Given the description of an element on the screen output the (x, y) to click on. 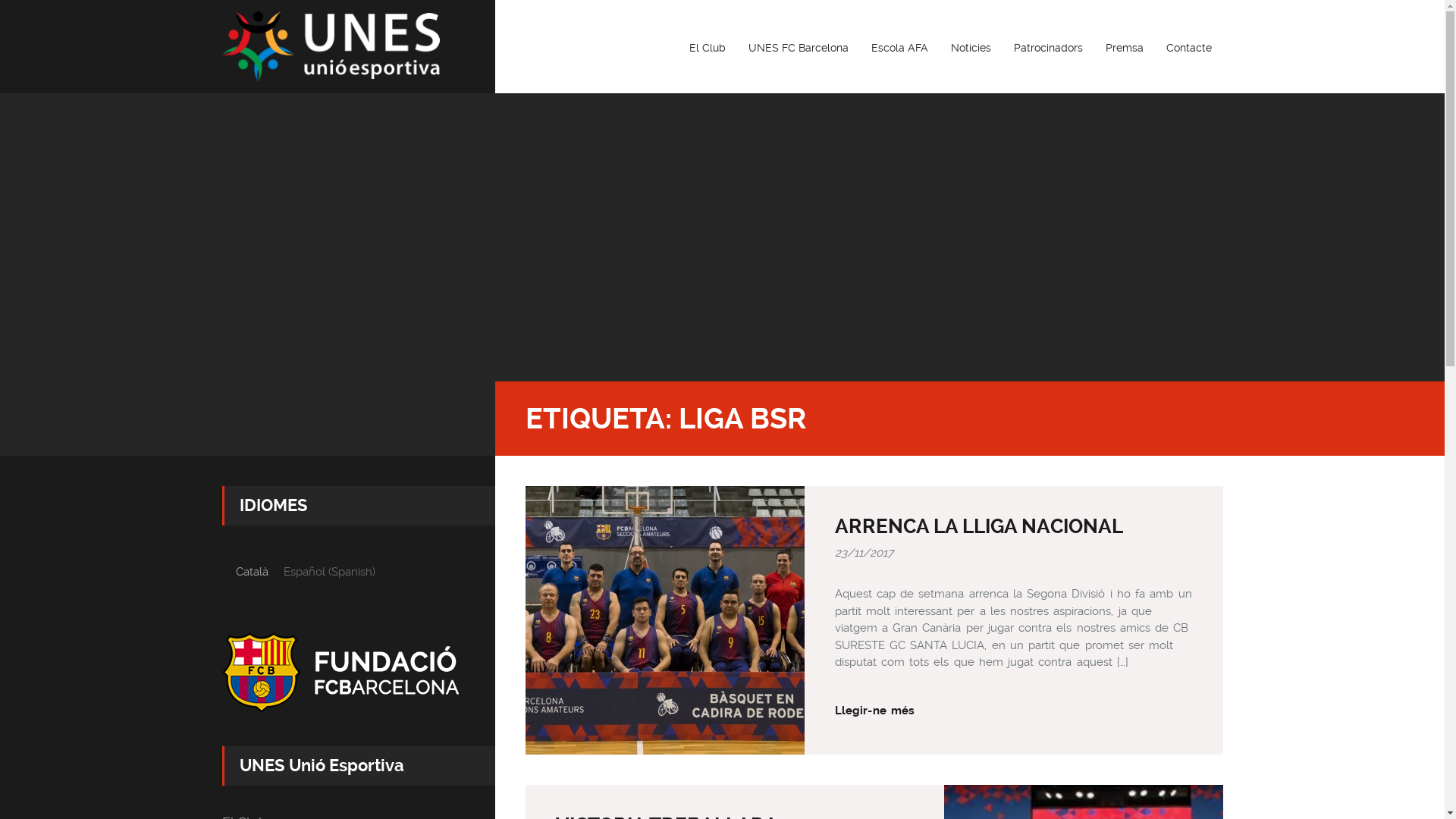
El Club Element type: text (707, 46)
Contacte Element type: text (1188, 46)
Premsa Element type: text (1123, 46)
Patrocinadors Element type: text (1048, 46)
UNES FC Barcelona Element type: text (798, 46)
ARRENCA LA LLIGA NACIONAL Element type: text (978, 525)
Escola AFA Element type: text (899, 46)
